Given the description of an element on the screen output the (x, y) to click on. 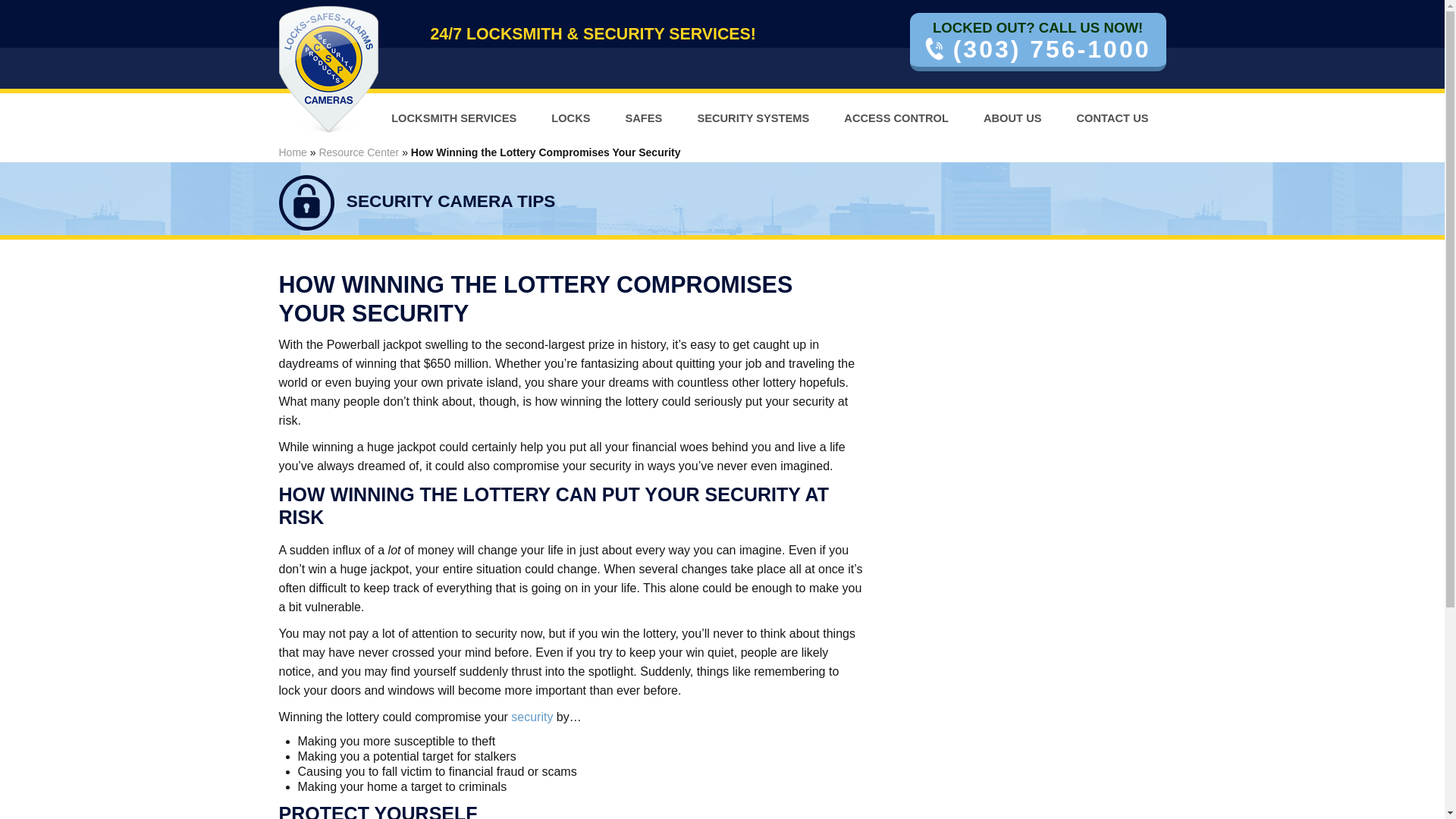
SAFES (643, 118)
LOCKSMITH SERVICES (454, 118)
LOCKS (570, 118)
